Given the description of an element on the screen output the (x, y) to click on. 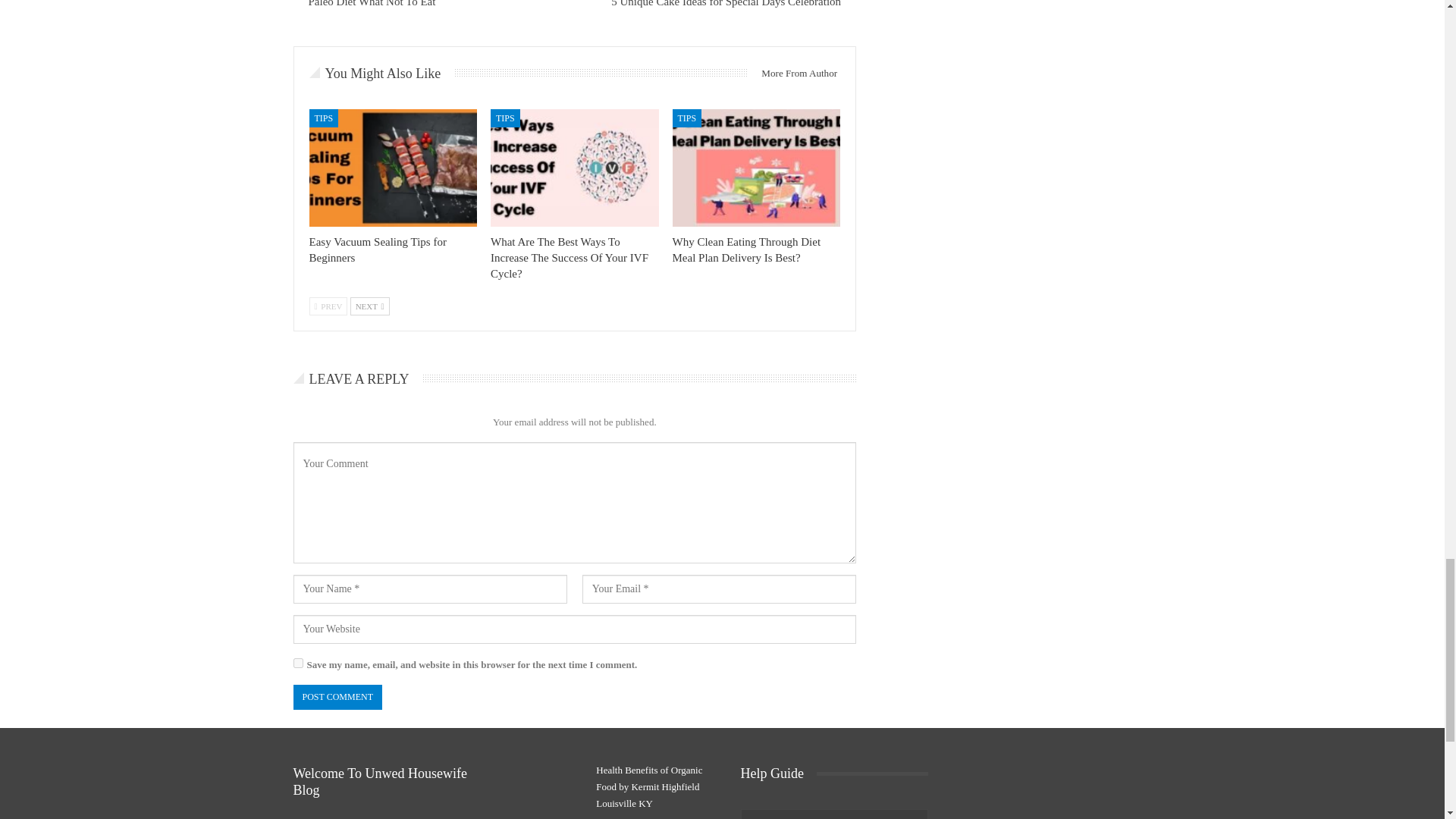
Why Clean Eating Through Diet Meal Plan Delivery Is Best? (746, 249)
Easy Vacuum Sealing Tips for Beginners (392, 167)
Why Clean Eating Through Diet Meal Plan Delivery Is Best? (756, 167)
yes (297, 663)
Previous (327, 306)
Next (370, 306)
Post Comment (336, 697)
Easy Vacuum Sealing Tips for Beginners (377, 249)
